Given the description of an element on the screen output the (x, y) to click on. 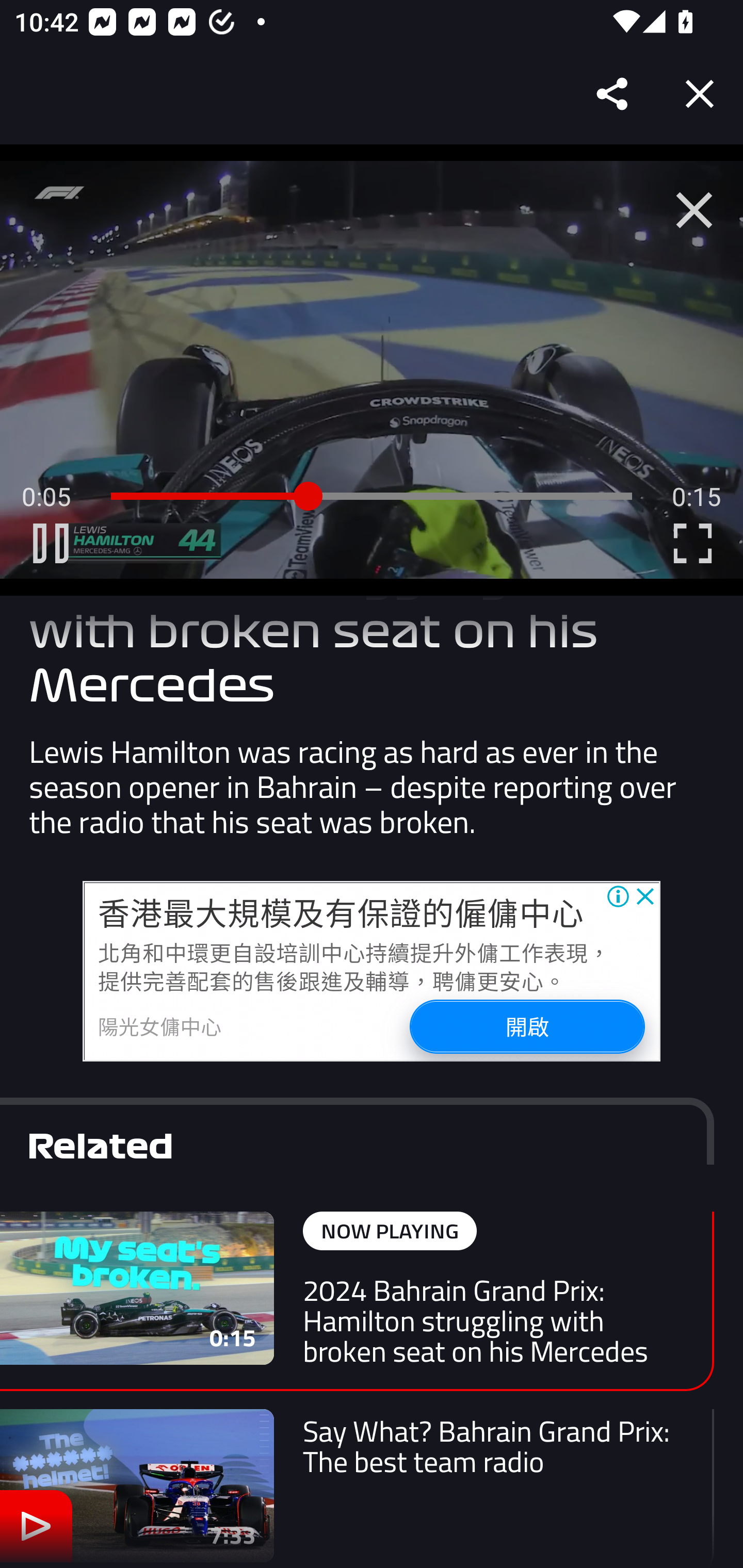
Share (612, 93)
Close (699, 93)
 Close (693, 210)
B Pause (50, 543)
C Enter Fullscreen (692, 543)
香港最大規模及有保證的僱傭中心 (340, 911)
開啟 (526, 1025)
陽光女傭中心 (160, 1026)
